Given the description of an element on the screen output the (x, y) to click on. 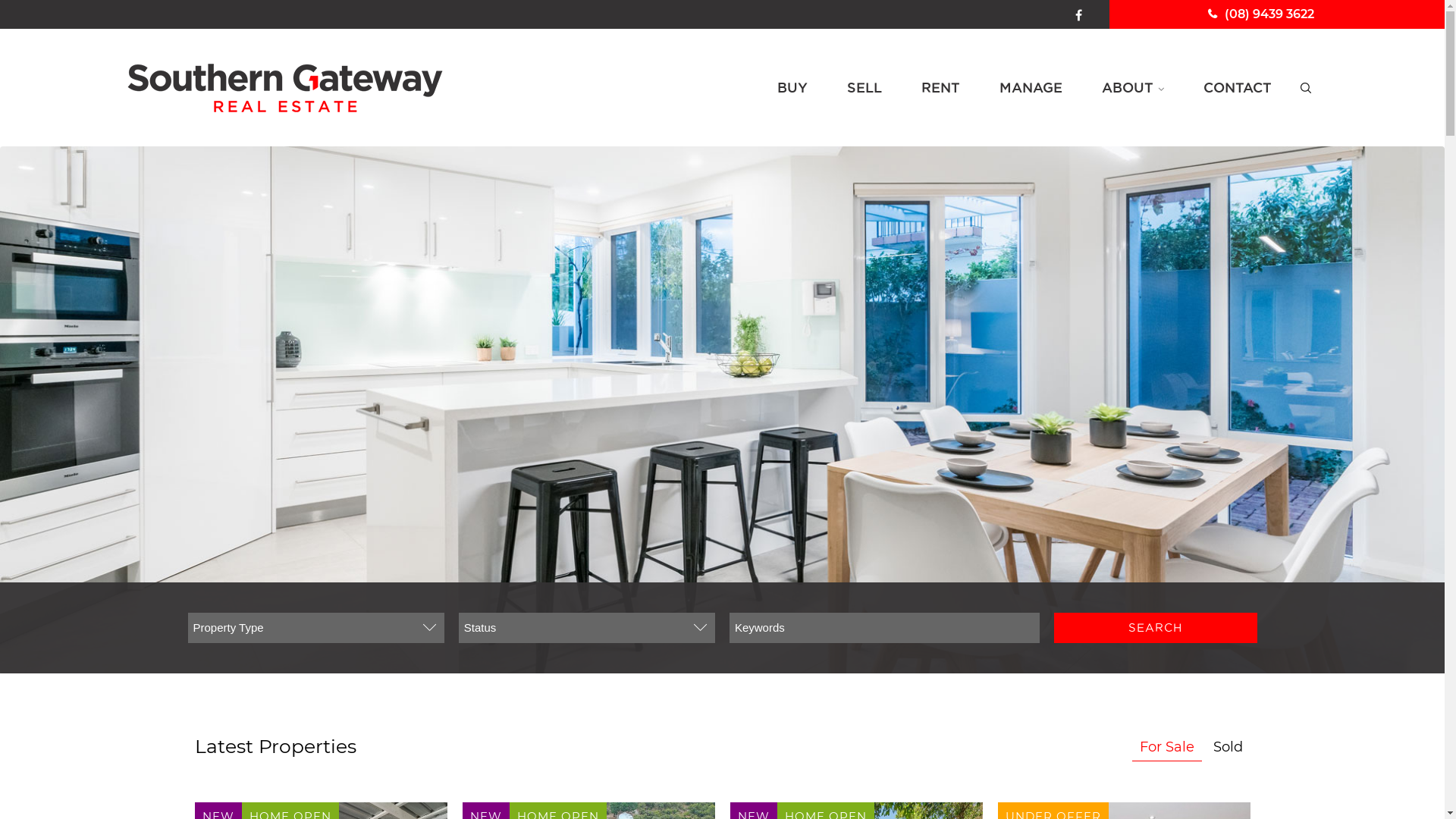
RENT Element type: text (939, 87)
(08) 9439 3622 Element type: text (1260, 14)
Search Element type: text (1155, 627)
ABOUT Element type: text (1131, 87)
Sold Element type: text (1227, 746)
MANAGE Element type: text (1030, 87)
BUY Element type: text (791, 87)
SELL Element type: text (863, 87)
For Sale Element type: text (1166, 746)
CONTACT Element type: text (1236, 87)
Facebook Element type: hover (1077, 14)
